Given the description of an element on the screen output the (x, y) to click on. 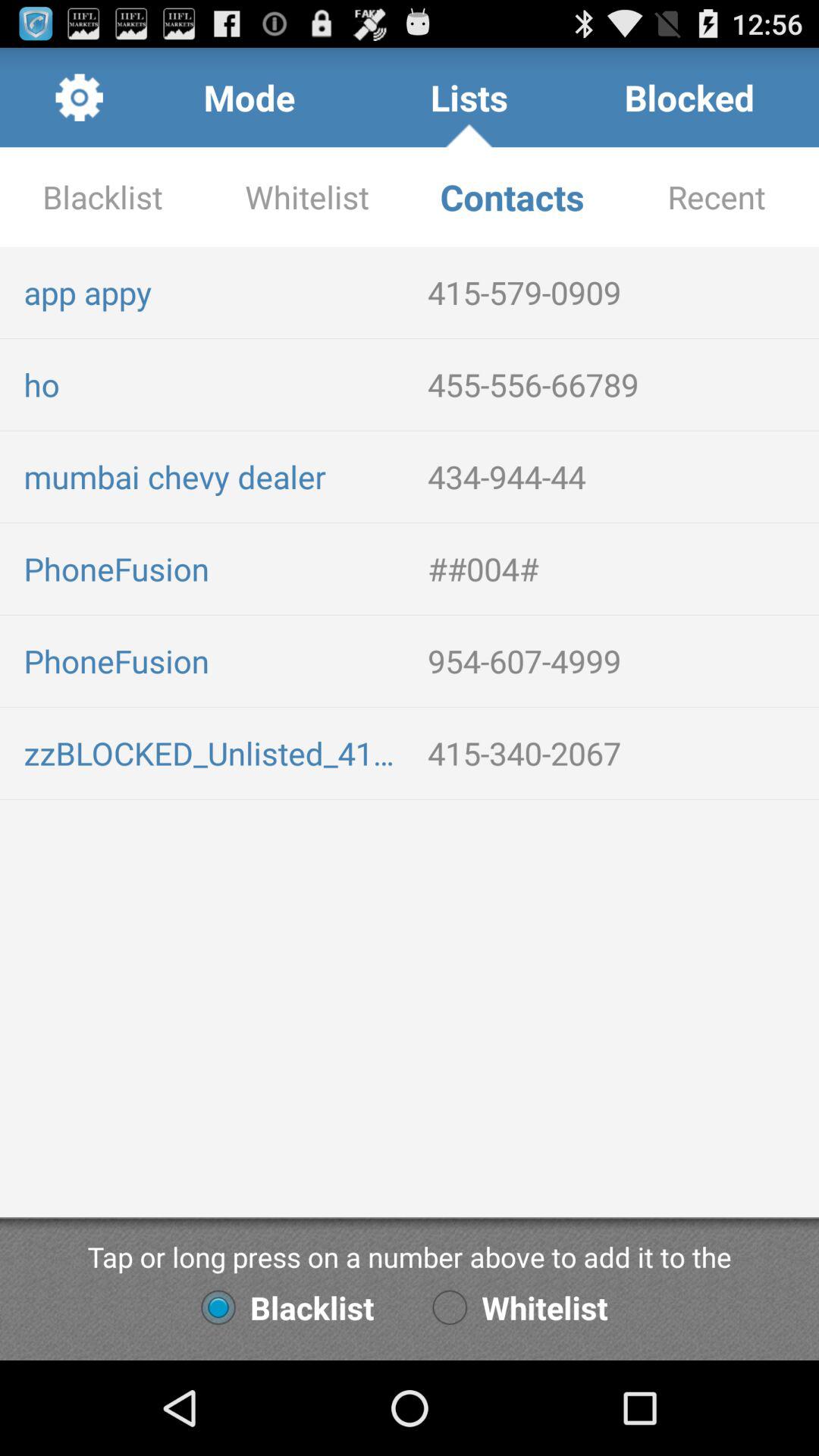
choose the item to the left of the 415-579-0909 app (213, 291)
